Given the description of an element on the screen output the (x, y) to click on. 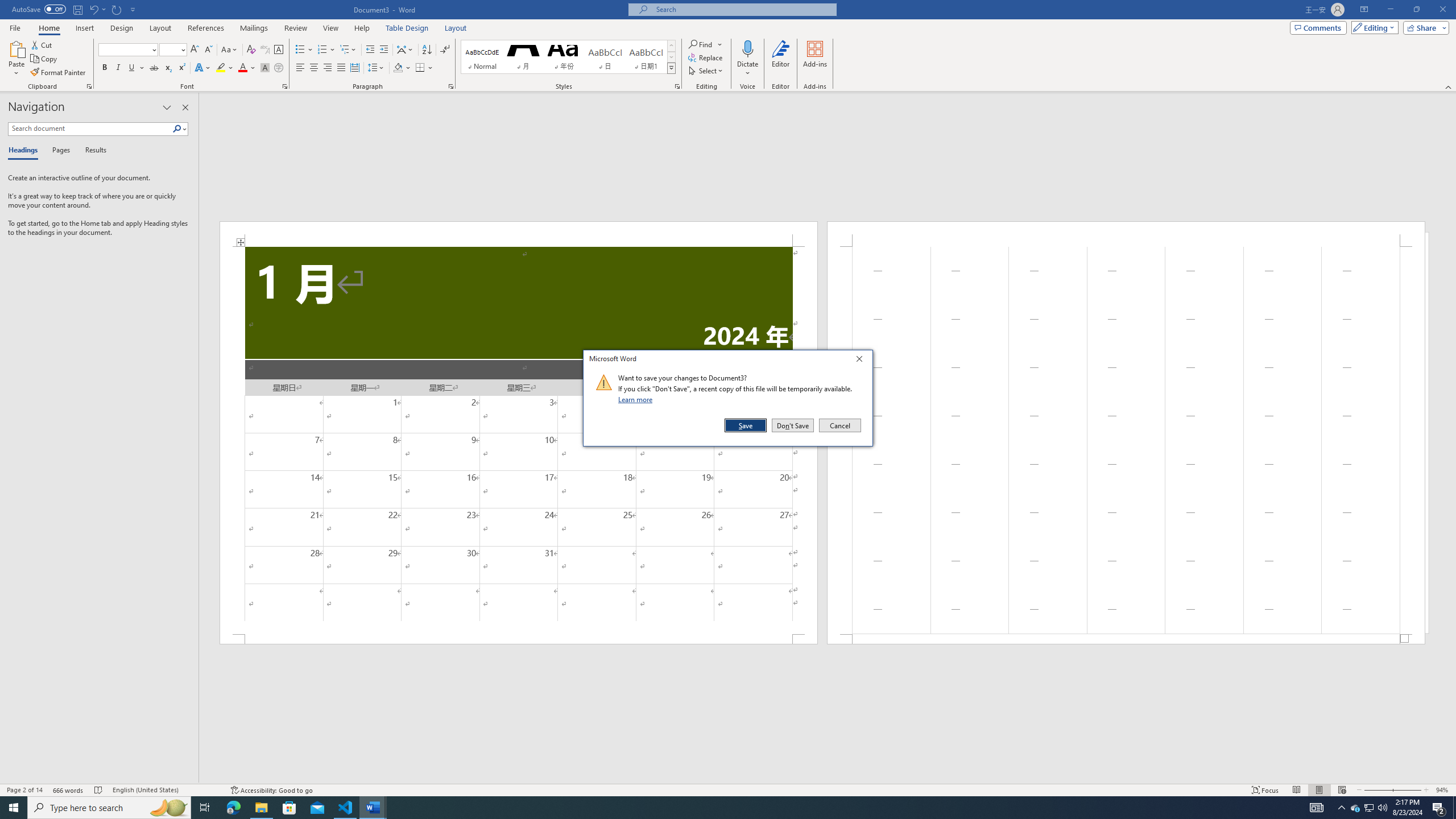
Show/Hide Editing Marks (444, 49)
Grow Font (193, 49)
Numbering (326, 49)
Clear Formatting (250, 49)
Styles (670, 67)
Help (361, 28)
Start (13, 807)
Superscript (180, 67)
Design (122, 28)
Focus  (1355, 807)
Zoom In (1265, 790)
Q2790: 100% (1407, 790)
Don't Save (1382, 807)
Shading (792, 425)
